Given the description of an element on the screen output the (x, y) to click on. 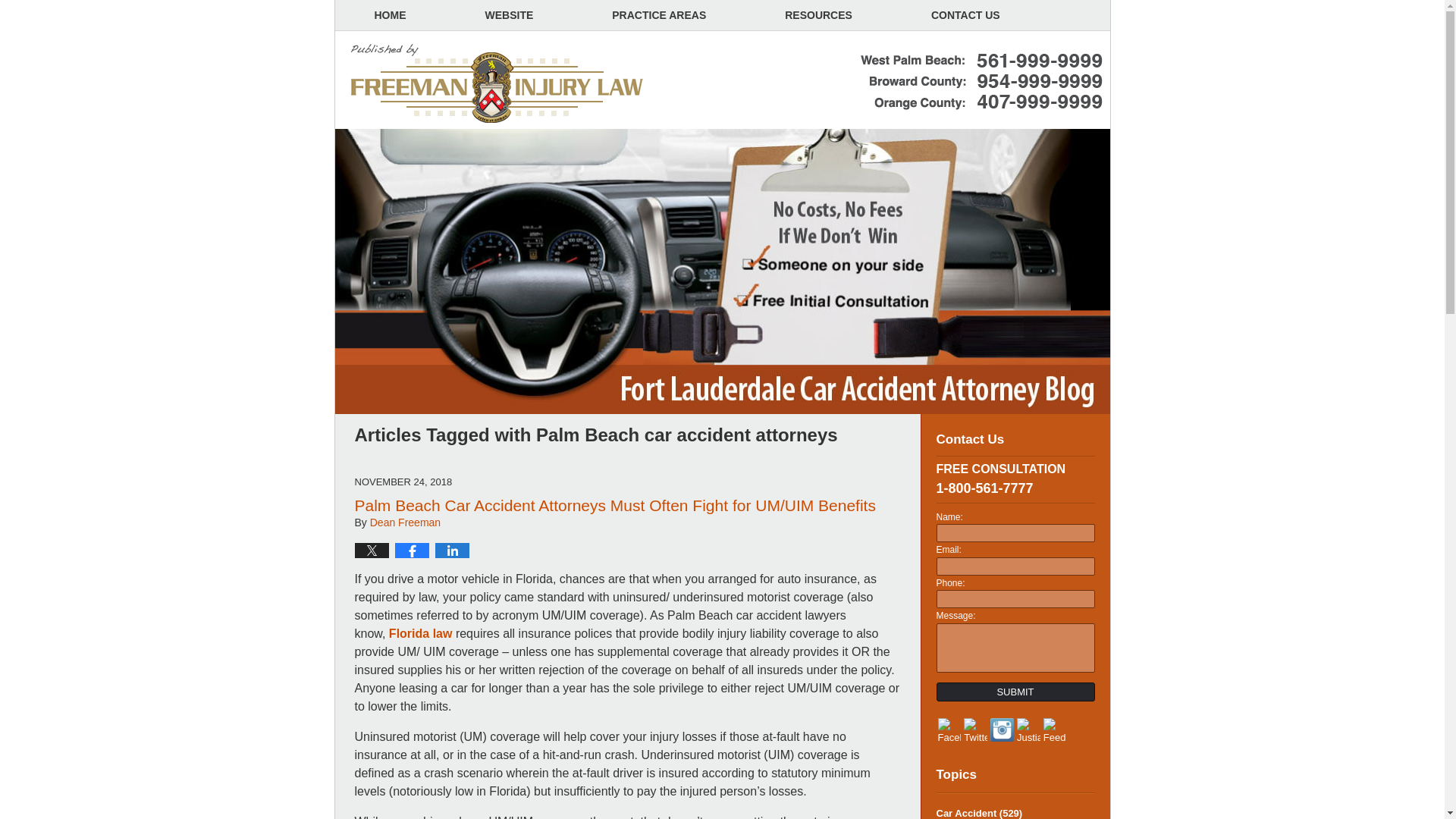
CONTACT US (965, 15)
PRACTICE AREAS (658, 15)
Fort Lauderdale Car Accident Attorney Blog (497, 84)
Dean Freeman (405, 522)
Please enter a valid phone number. (1015, 598)
SUBMIT (1015, 691)
Published By Freeman Injury Law (981, 81)
Justia (1028, 731)
Facebook (949, 731)
Florida law (420, 633)
